Given the description of an element on the screen output the (x, y) to click on. 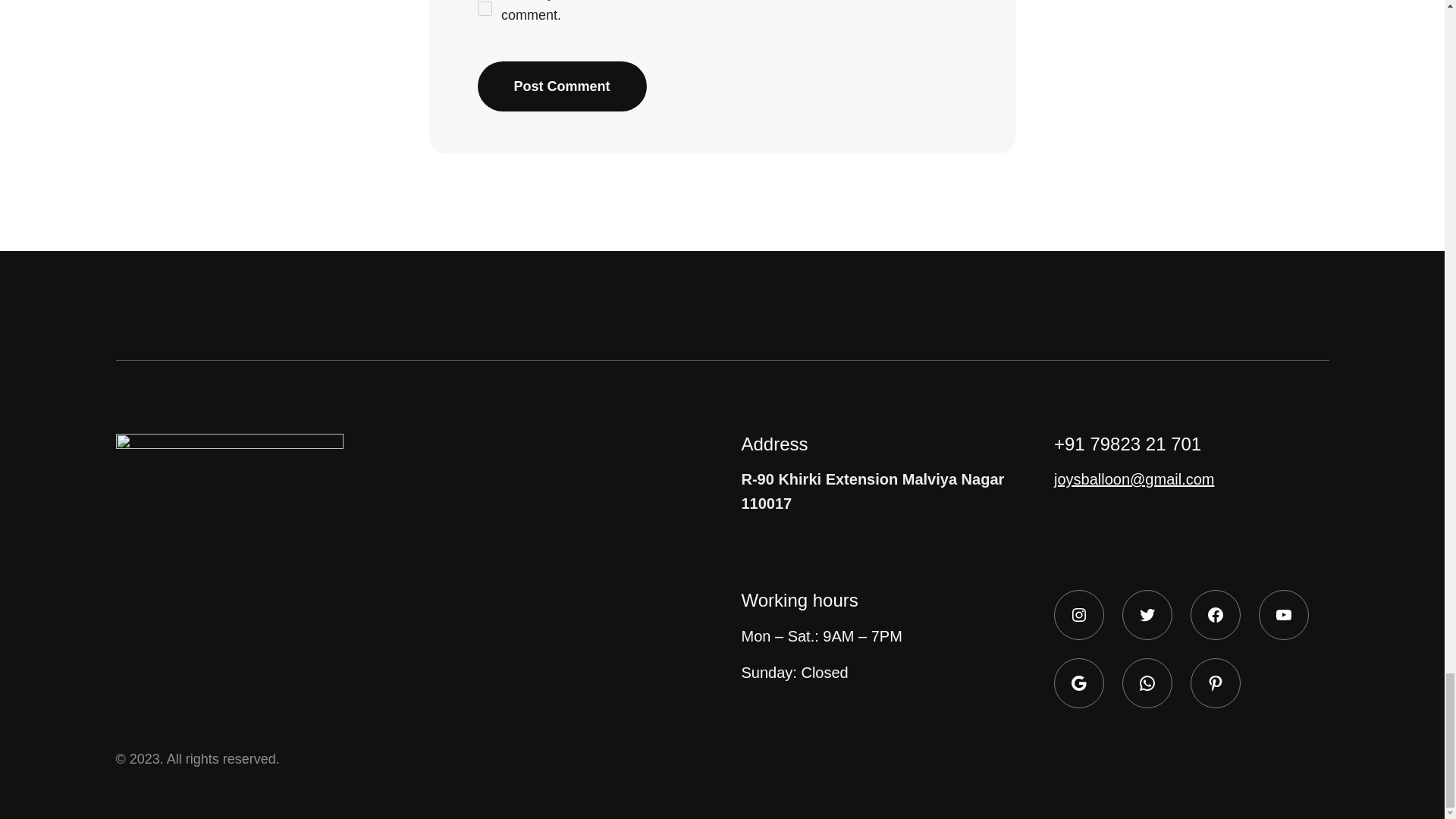
Pinterest (1215, 683)
Facebook (1215, 614)
Post Comment (561, 86)
YouTube (1283, 614)
Google (1078, 683)
Post Comment (561, 86)
WhatsApp (1147, 683)
Instagram (1078, 614)
Twitter (1147, 614)
